Given the description of an element on the screen output the (x, y) to click on. 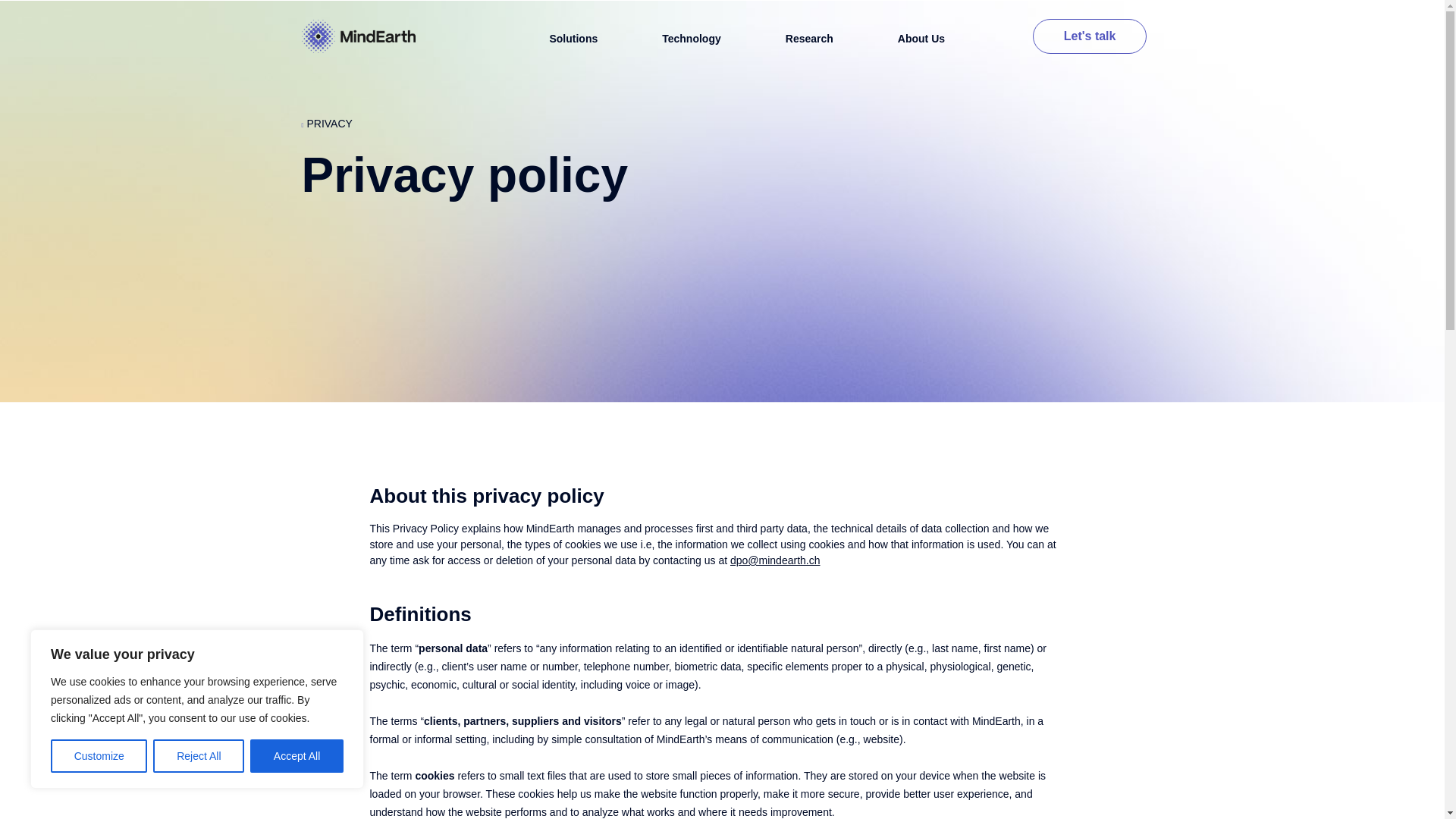
Accept All (296, 756)
About Us (921, 38)
Research (809, 38)
Let's talk (1089, 36)
Solutions (572, 38)
Technology (691, 38)
Customize (98, 756)
Reject All (198, 756)
